Given the description of an element on the screen output the (x, y) to click on. 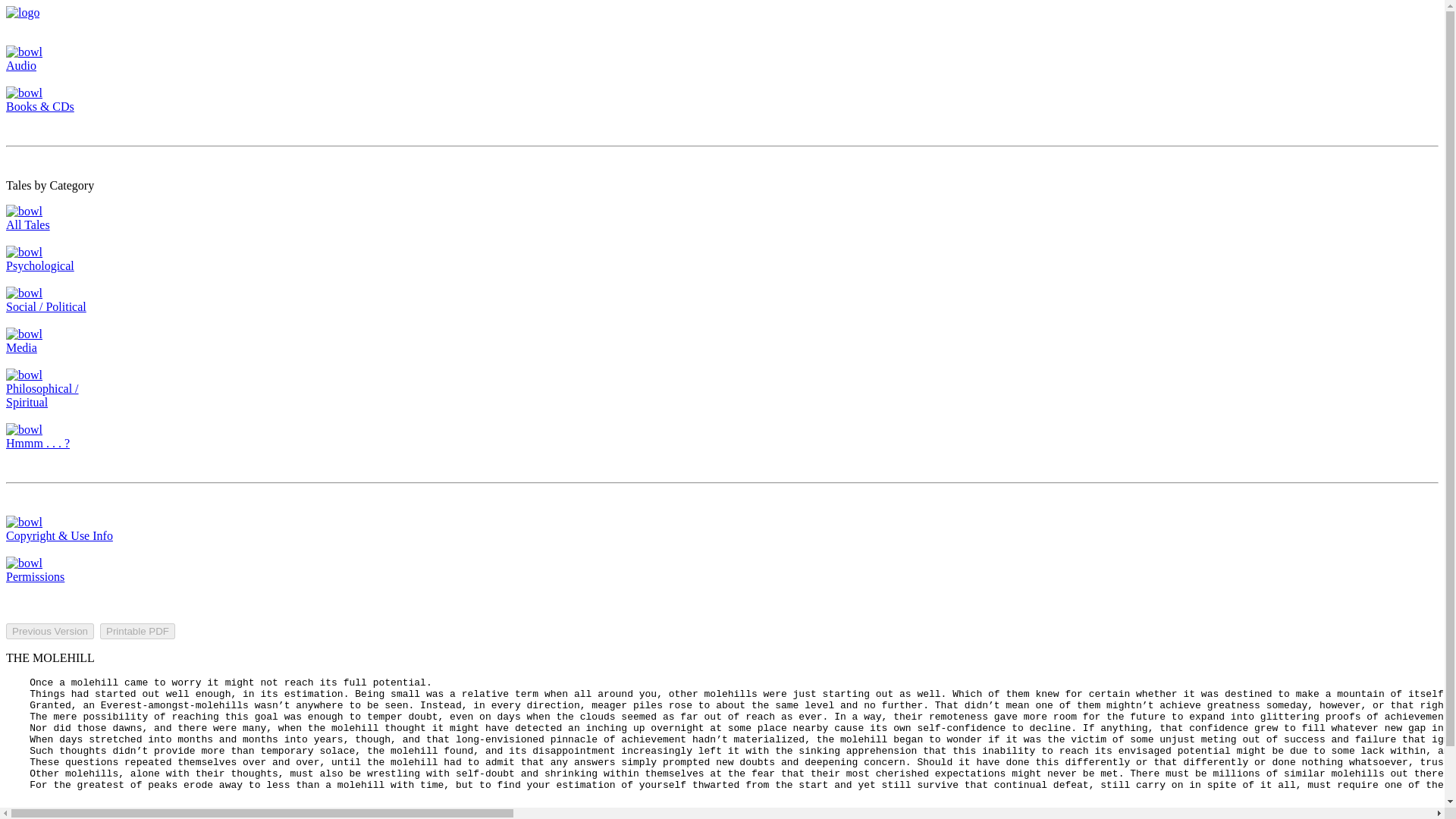
Previous Version (49, 631)
Printable PDF (137, 631)
All Tales (27, 217)
Audio (23, 58)
Permissions (34, 569)
Psychological (39, 258)
Hmmm . . . ? (37, 436)
Media (23, 340)
